Given the description of an element on the screen output the (x, y) to click on. 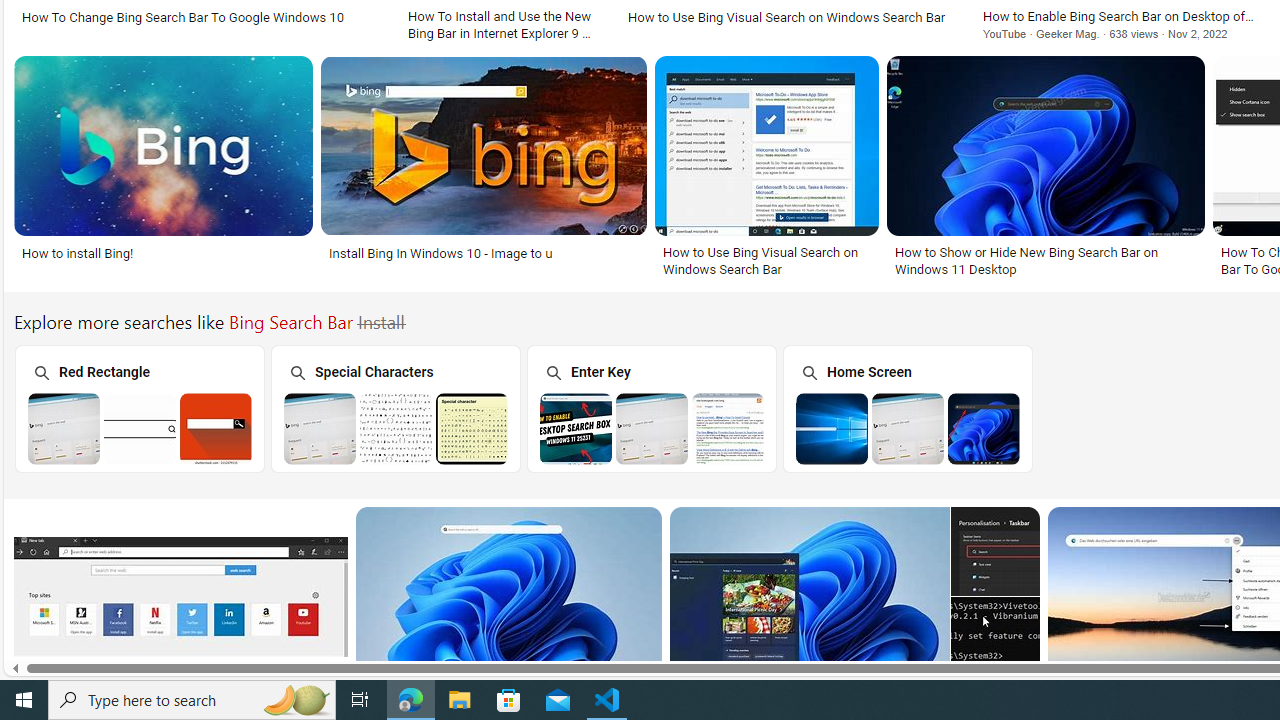
Red Rectangle Bing Search Bar (140, 428)
How to Use Bing Visual Search on Windows Search Bar (766, 260)
How to Use Bing Visual Search on Windows Search Bar (766, 260)
How To Change Bing Search Bar To Google Windows 10 (182, 16)
Bing Search Bar On Home Screen (908, 428)
Install Bing In Windows 10 - Image to uSave (488, 169)
Image result for Bing Search Bar Install (995, 641)
Bing Search Bar On Home Screen Home Screen (907, 408)
Install Bing In Windows 10 - Image to u (440, 253)
Image result for Bing Search Bar Install (508, 596)
How To Change Bing Search Bar To Google Windows 10 (202, 16)
How to install Bing! (77, 253)
